Given the description of an element on the screen output the (x, y) to click on. 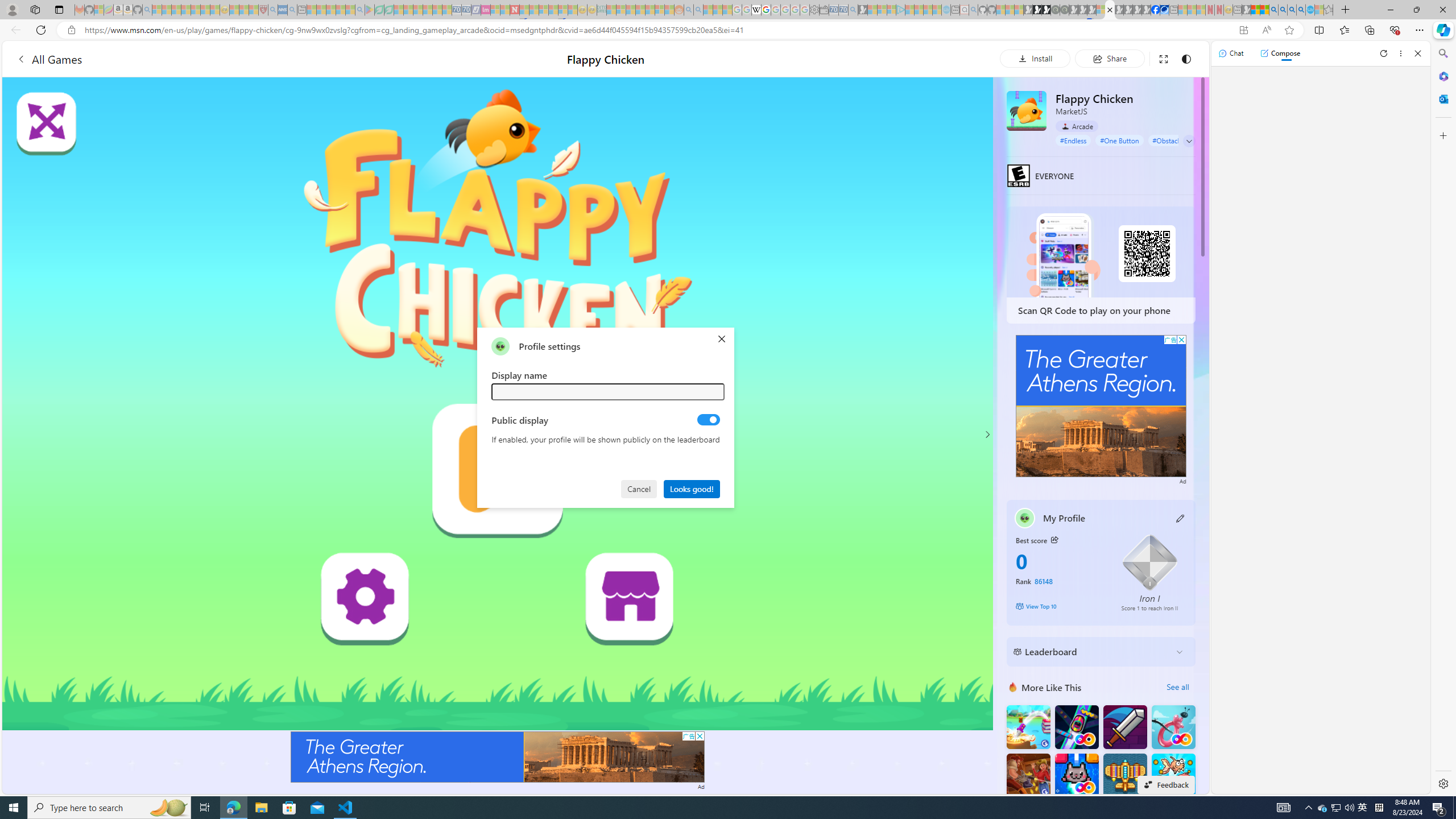
Leaderboard (1091, 651)
